Given the description of an element on the screen output the (x, y) to click on. 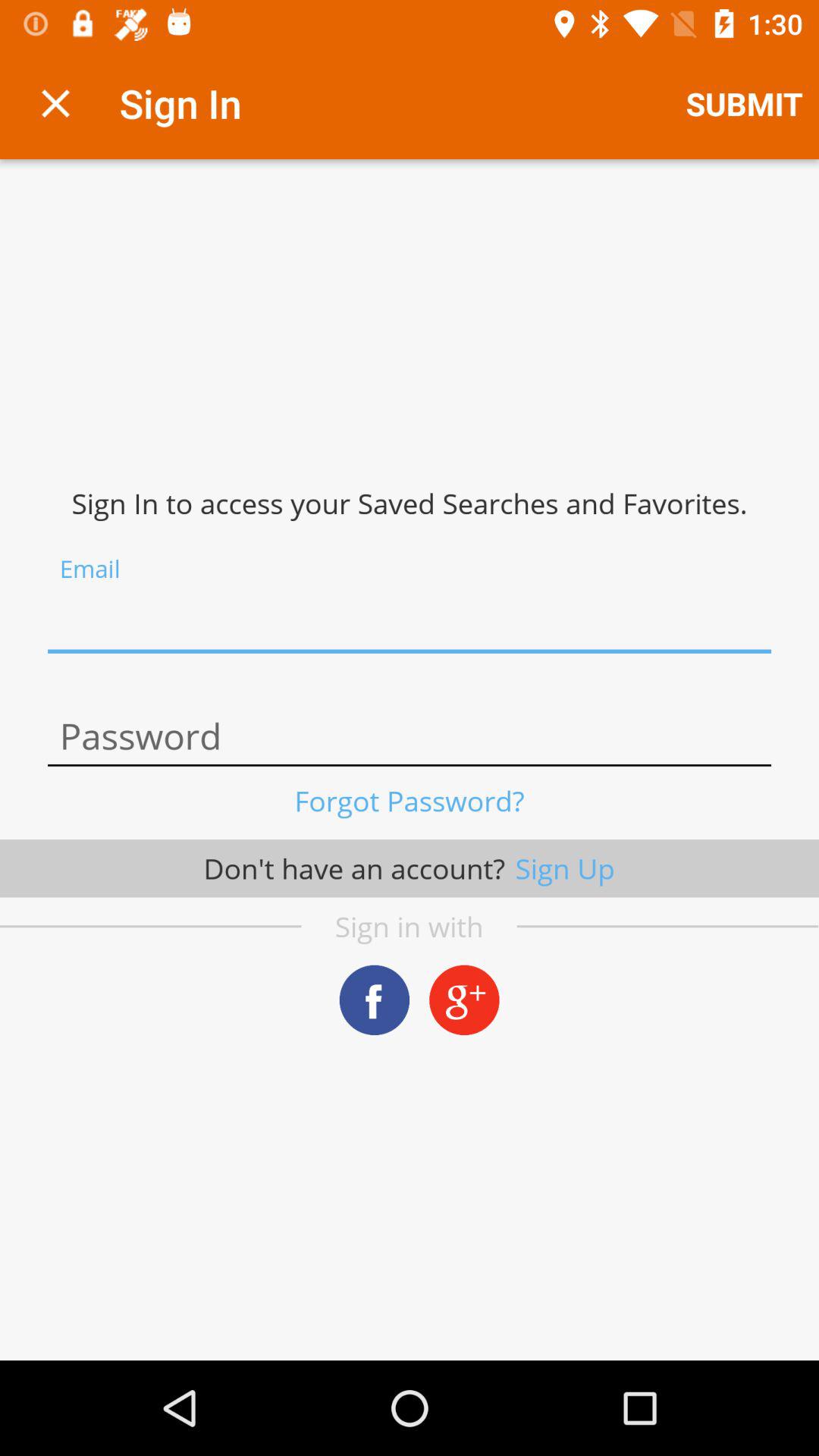
google mail button (464, 1000)
